Given the description of an element on the screen output the (x, y) to click on. 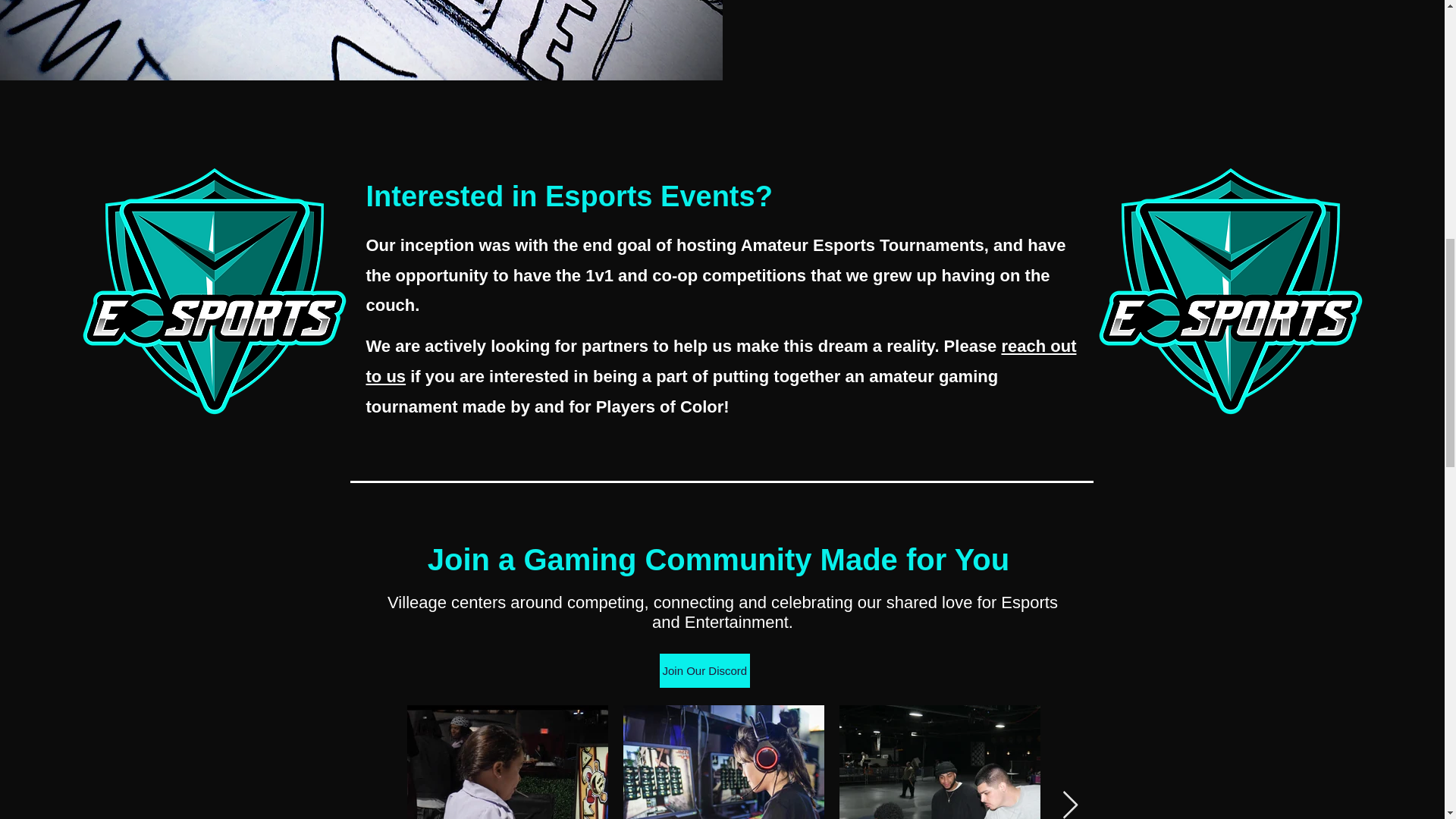
reach out to us (720, 360)
Join Our Discord (705, 670)
